Given the description of an element on the screen output the (x, y) to click on. 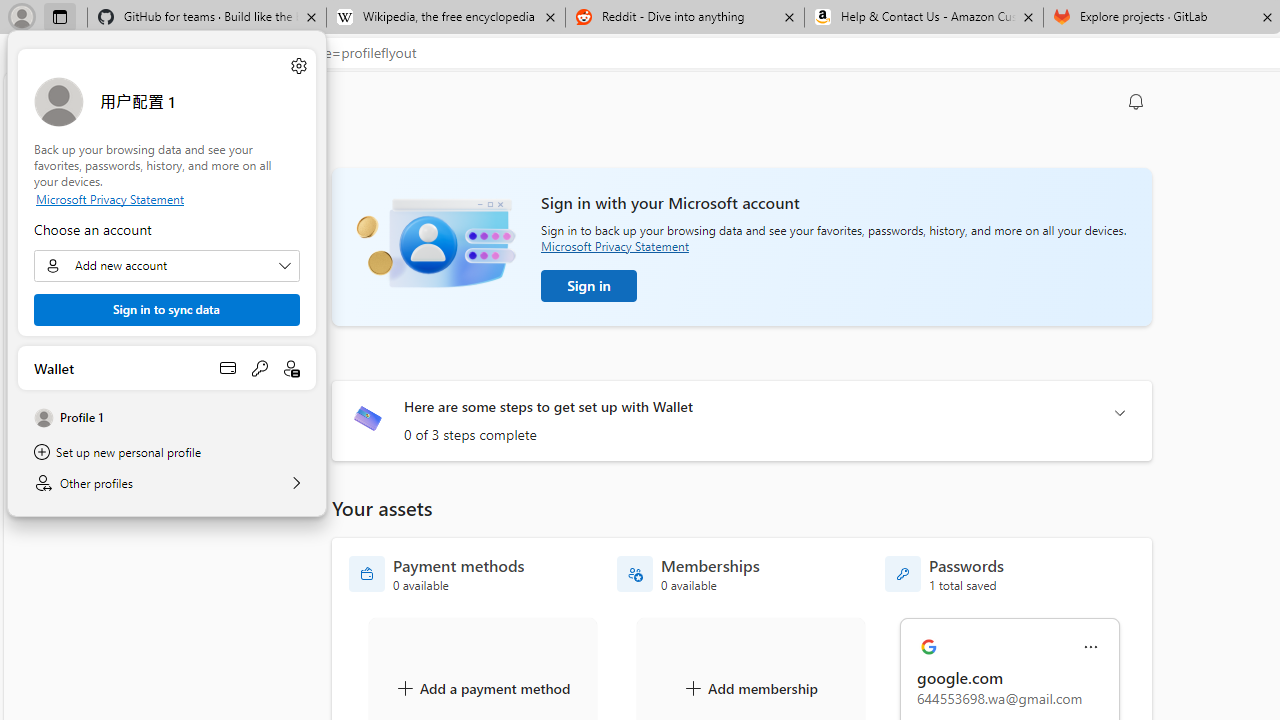
Manage profile settings (298, 65)
Other profiles (166, 483)
Sign in (589, 285)
More actions (1091, 647)
Profile 1 (166, 418)
Memberships - 0 available (688, 573)
Help & Contact Us - Amazon Customer Service (924, 17)
Notification (1136, 101)
Reddit - Dive into anything (684, 17)
Choose an account (166, 265)
Open passwords (260, 367)
Wallet (166, 368)
Set up new personal profile (166, 452)
Passwords - 1 total saved (944, 573)
